Given the description of an element on the screen output the (x, y) to click on. 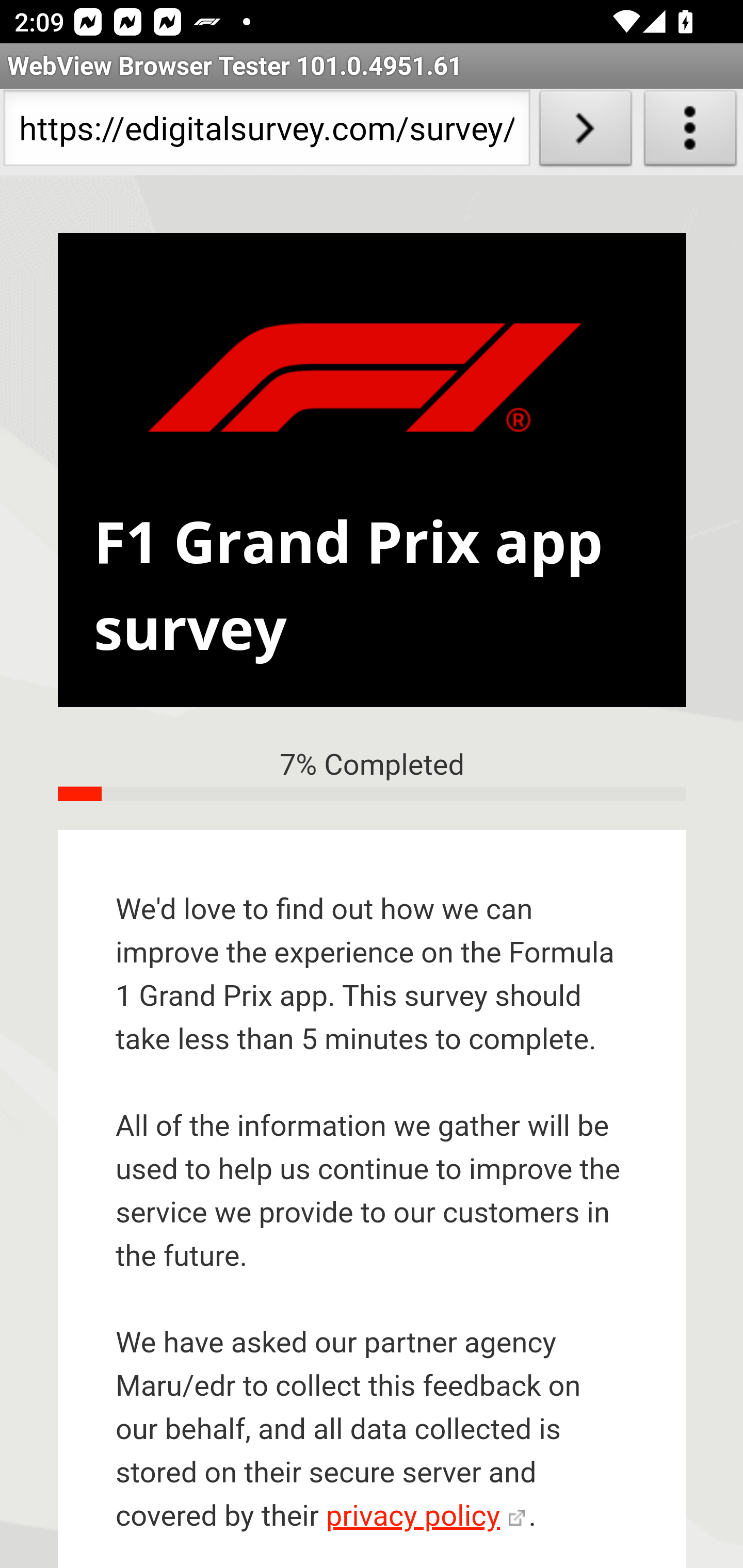
Load URL (585, 132)
About WebView (690, 132)
privacy policy  privacy policy    (425, 1517)
